Given the description of an element on the screen output the (x, y) to click on. 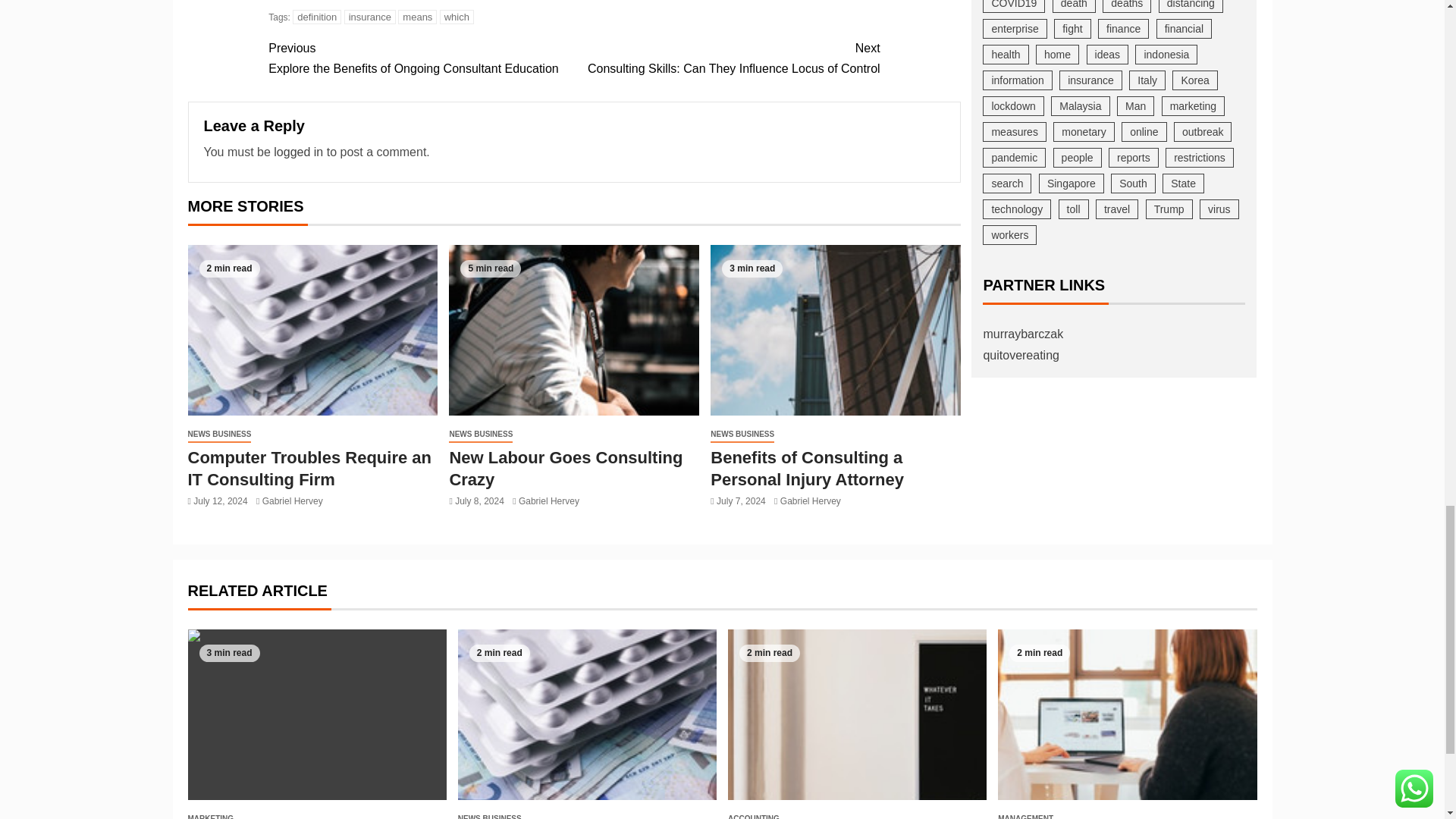
which (456, 16)
Computer Troubles Require an IT Consulting Firm (312, 329)
definition (726, 57)
means (316, 16)
insurance (416, 16)
